Given the description of an element on the screen output the (x, y) to click on. 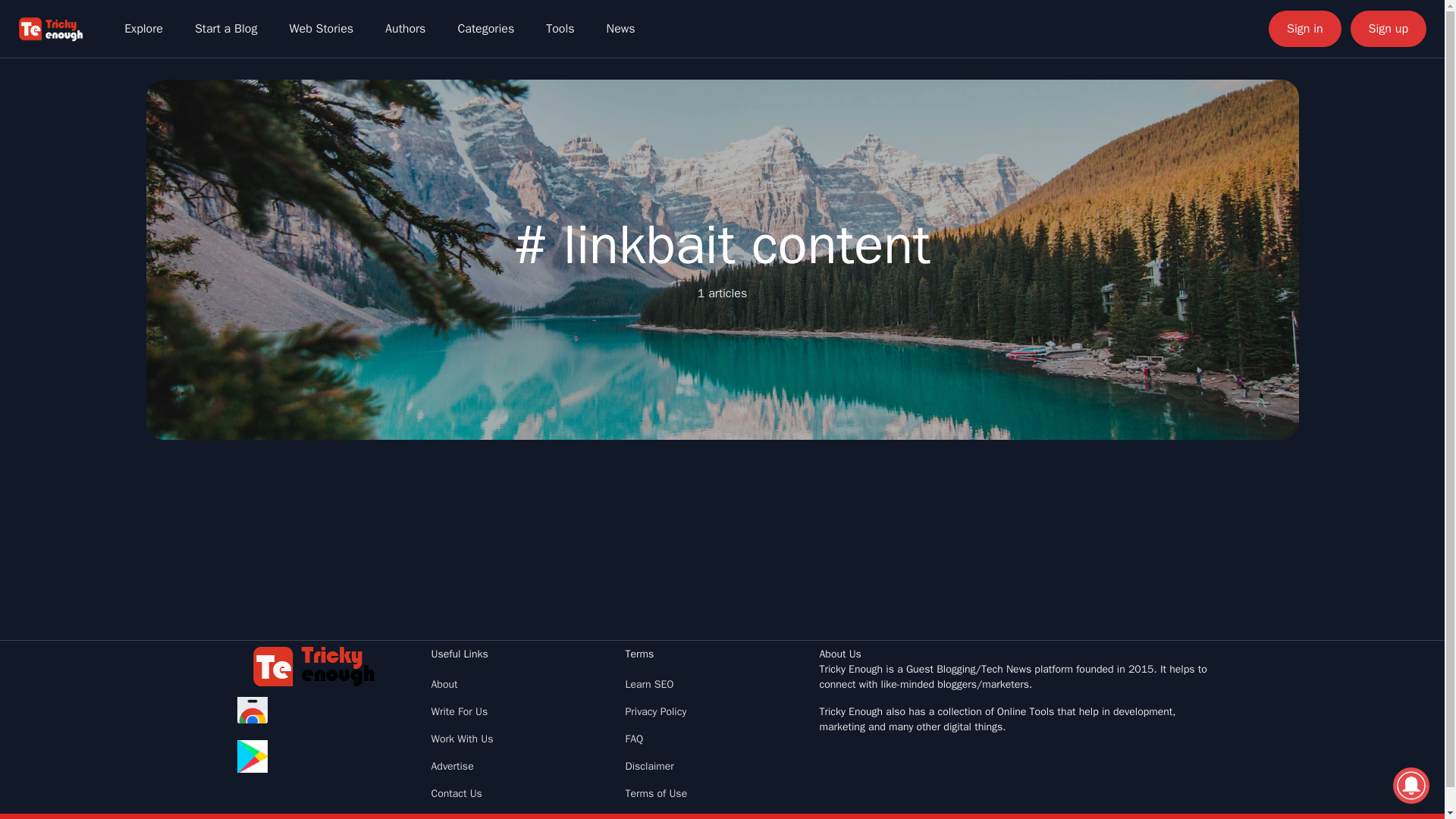
Tools (560, 28)
Advertise (451, 766)
Write For Us (458, 711)
Sign in (1304, 28)
Sign up (1388, 28)
Work With Us (461, 738)
FAQ (633, 738)
Explore (143, 28)
Disclaimer (648, 766)
Learn SEO (648, 684)
Start a Blog (225, 28)
Authors (405, 28)
Terms of Use (655, 793)
Categories (485, 28)
Contact Us (455, 793)
